Given the description of an element on the screen output the (x, y) to click on. 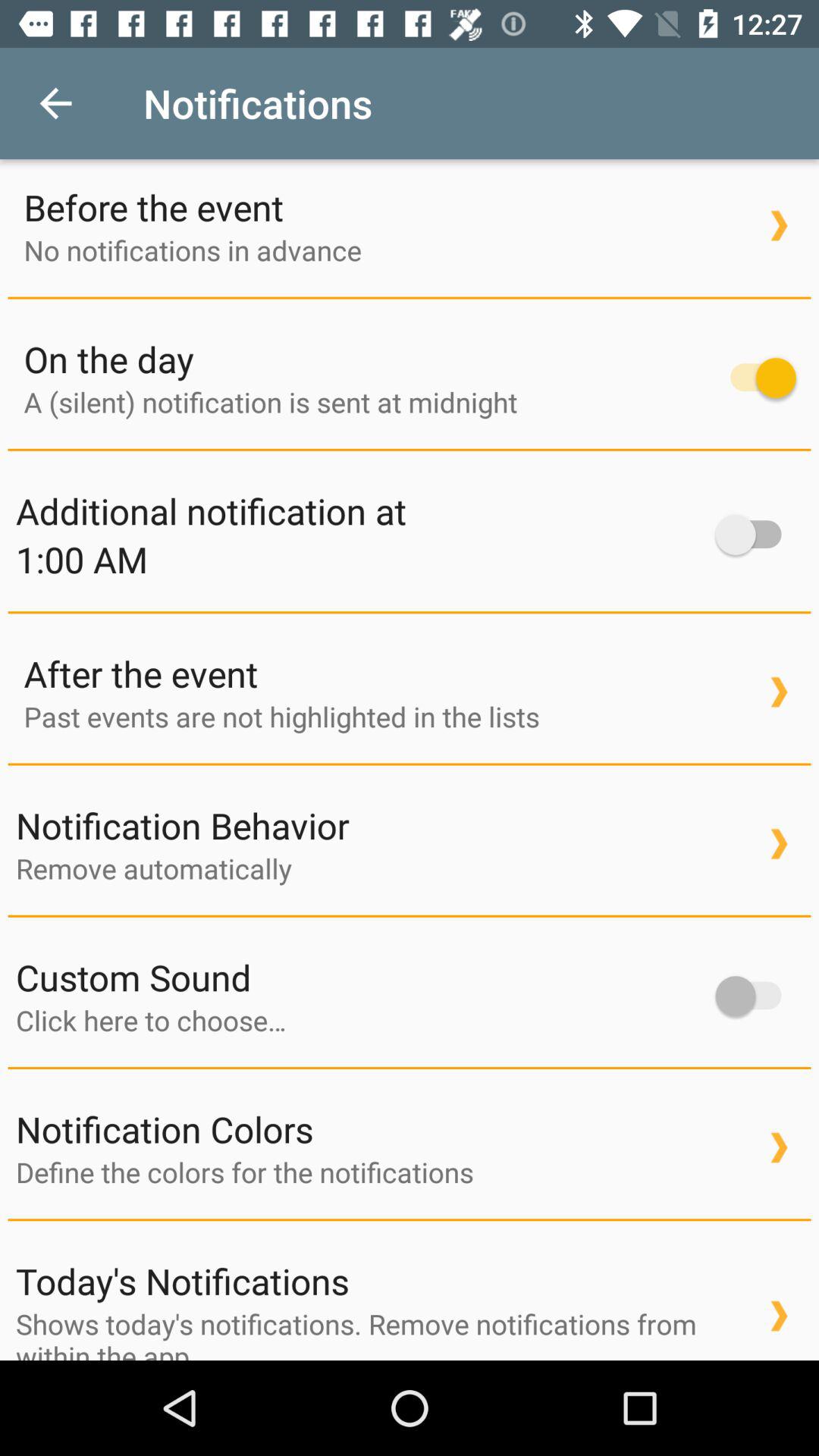
turn on item next to custom sound item (755, 996)
